Given the description of an element on the screen output the (x, y) to click on. 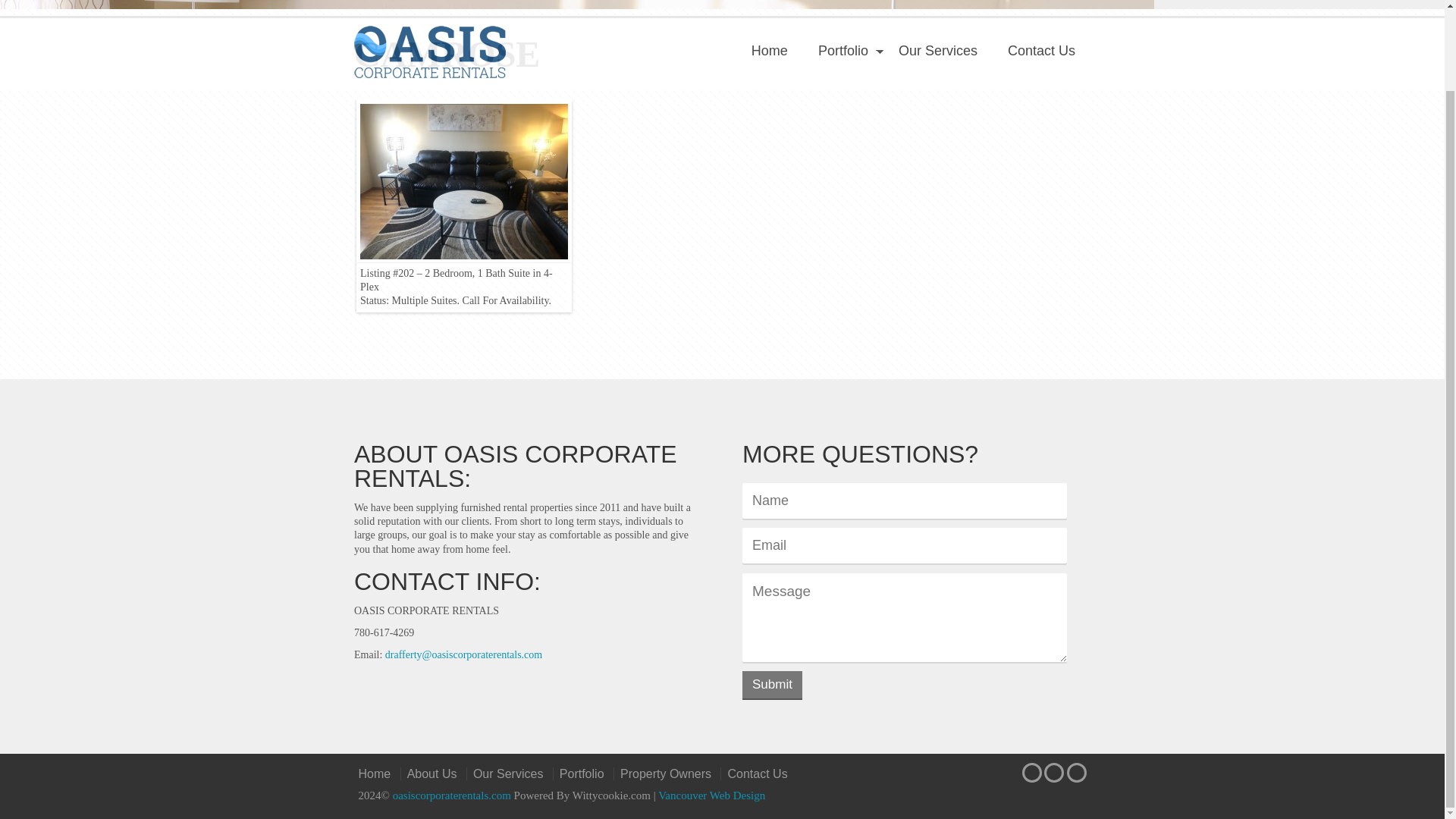
Property Owners (664, 773)
oasiscorporaterentals.com (453, 795)
oasiscorporaterentals.com (453, 795)
Home (377, 773)
Vancouver Web Design (711, 795)
Portfolio (581, 773)
Our Services (506, 773)
Submit (772, 684)
Submit (772, 684)
About Us (431, 773)
Vancouver Web Design (711, 795)
Contact Us (756, 773)
